Given the description of an element on the screen output the (x, y) to click on. 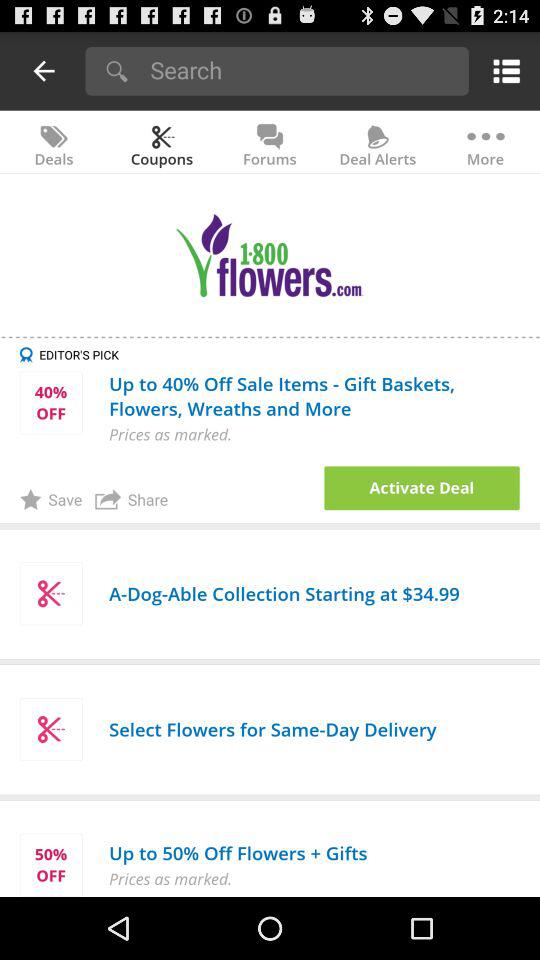
press item on the right (422, 488)
